Given the description of an element on the screen output the (x, y) to click on. 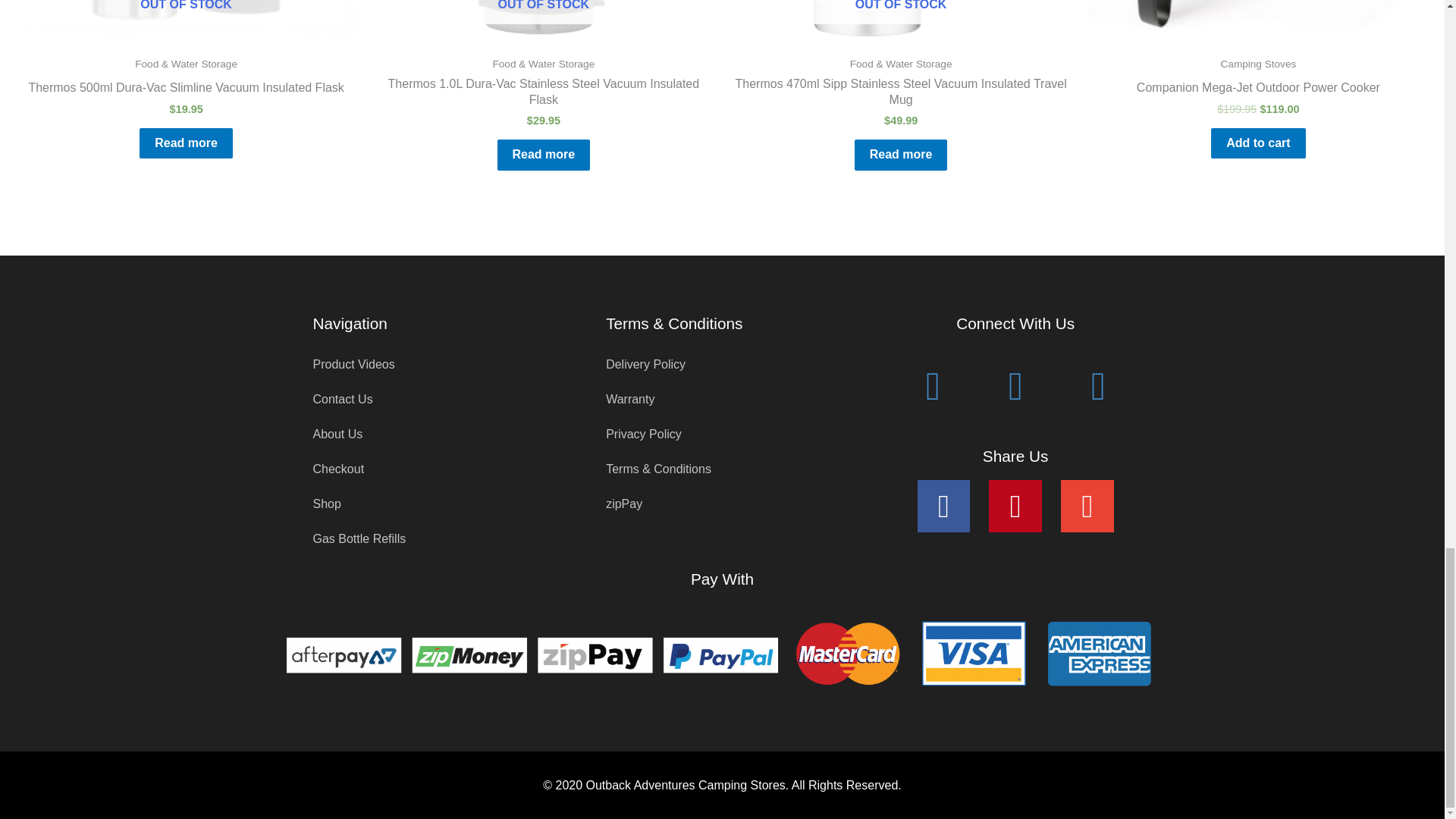
Read more (900, 154)
OUT OF STOCK (900, 18)
Thermos 500ml Dura-Vac Slimline Vacuum Insulated Flask (185, 91)
OUT OF STOCK (185, 18)
Read more (185, 142)
Read more (544, 154)
Thermos 1.0L Dura-Vac Stainless Steel Vacuum Insulated Flask (543, 95)
OUT OF STOCK (543, 18)
